Given the description of an element on the screen output the (x, y) to click on. 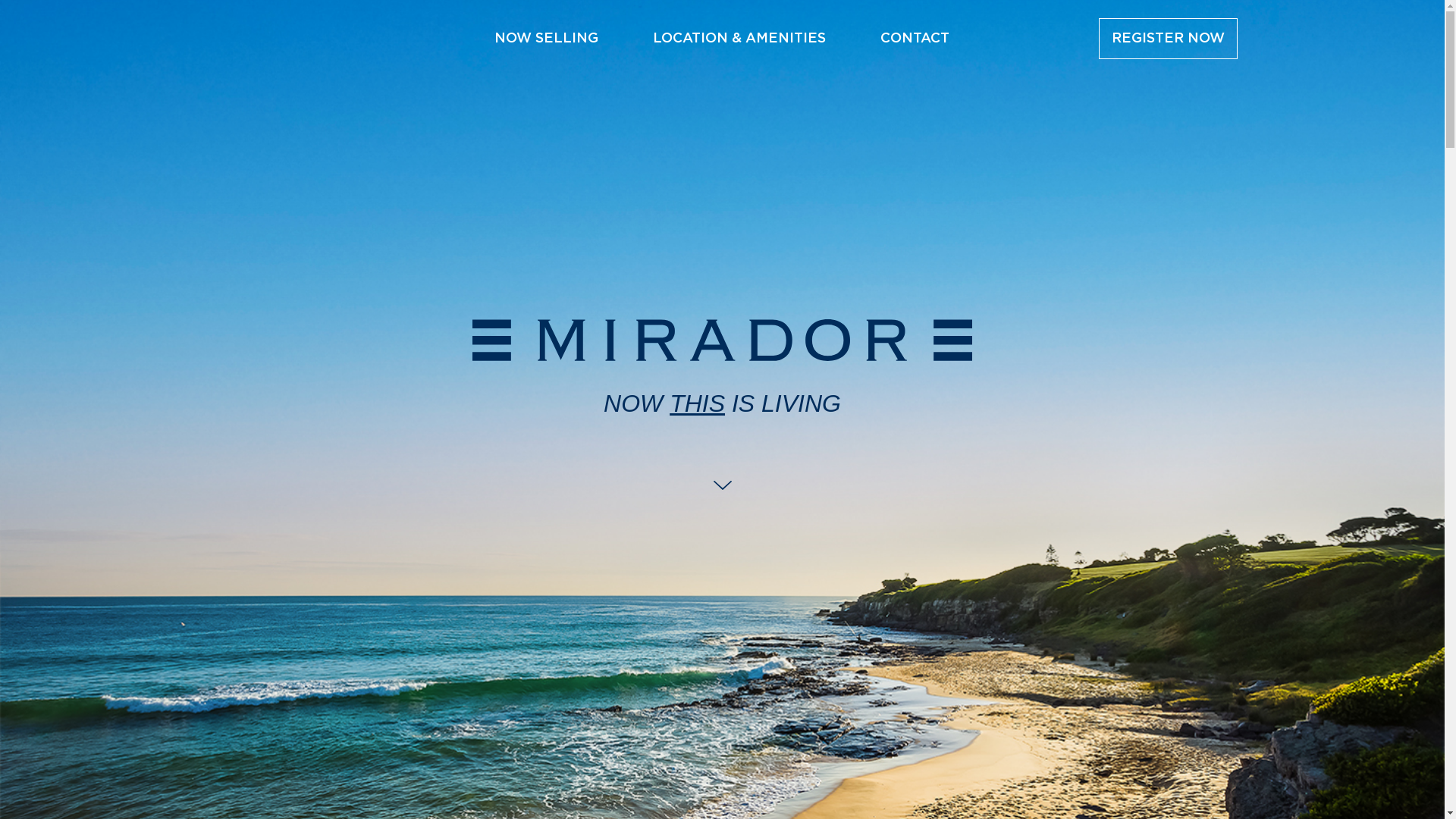
NOW SELLING Element type: text (546, 38)
LOCATION & AMENITIES Element type: text (738, 38)
CONTACT Element type: text (914, 38)
REGISTER NOW Element type: text (1167, 38)
